Given the description of an element on the screen output the (x, y) to click on. 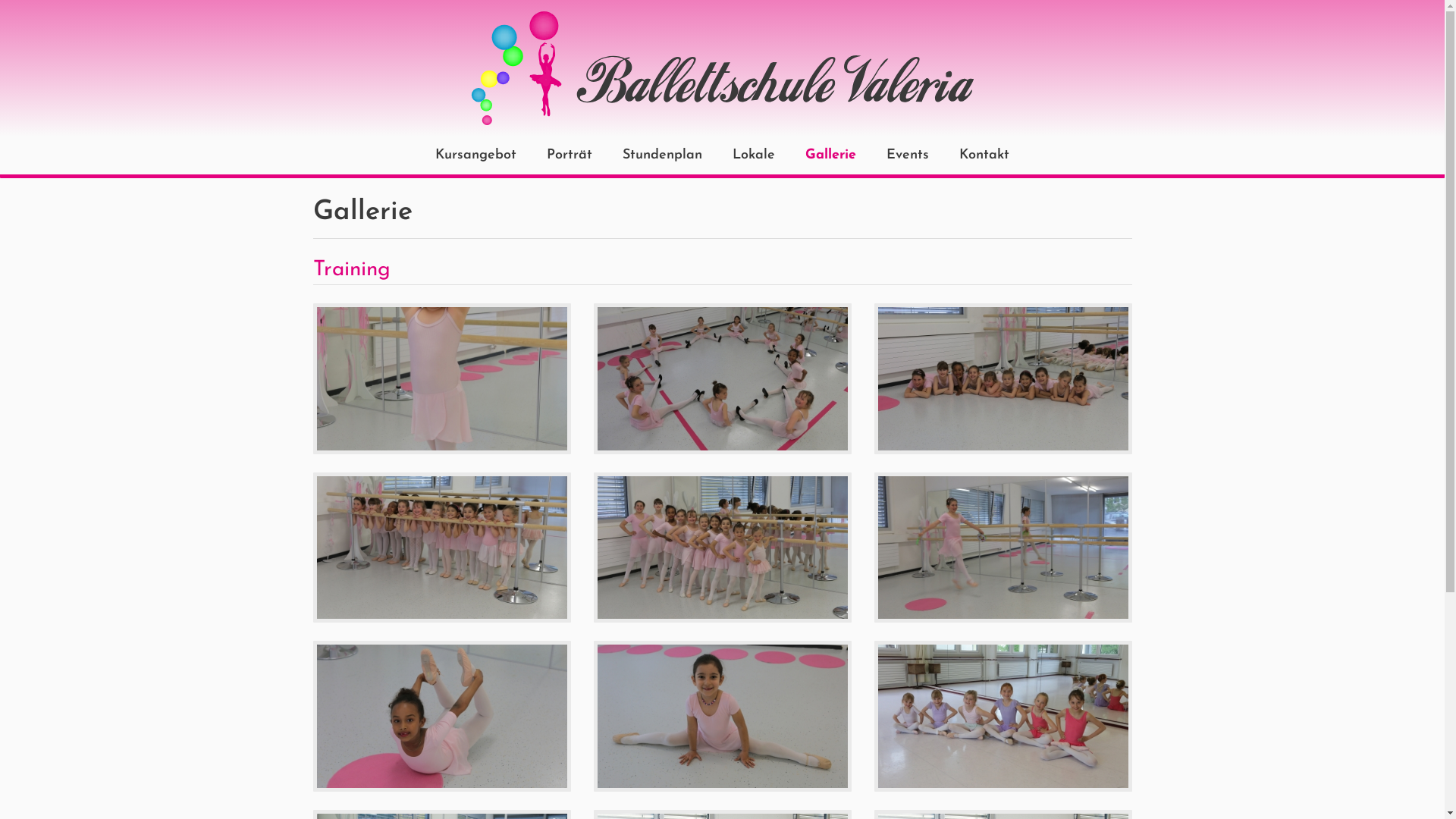
Events Element type: text (907, 155)
Lokale Element type: text (753, 155)
Kontakt Element type: text (984, 155)
Gallerie Element type: text (830, 155)
Kursangebot Element type: text (475, 155)
Stundenplan Element type: text (662, 155)
